Given the description of an element on the screen output the (x, y) to click on. 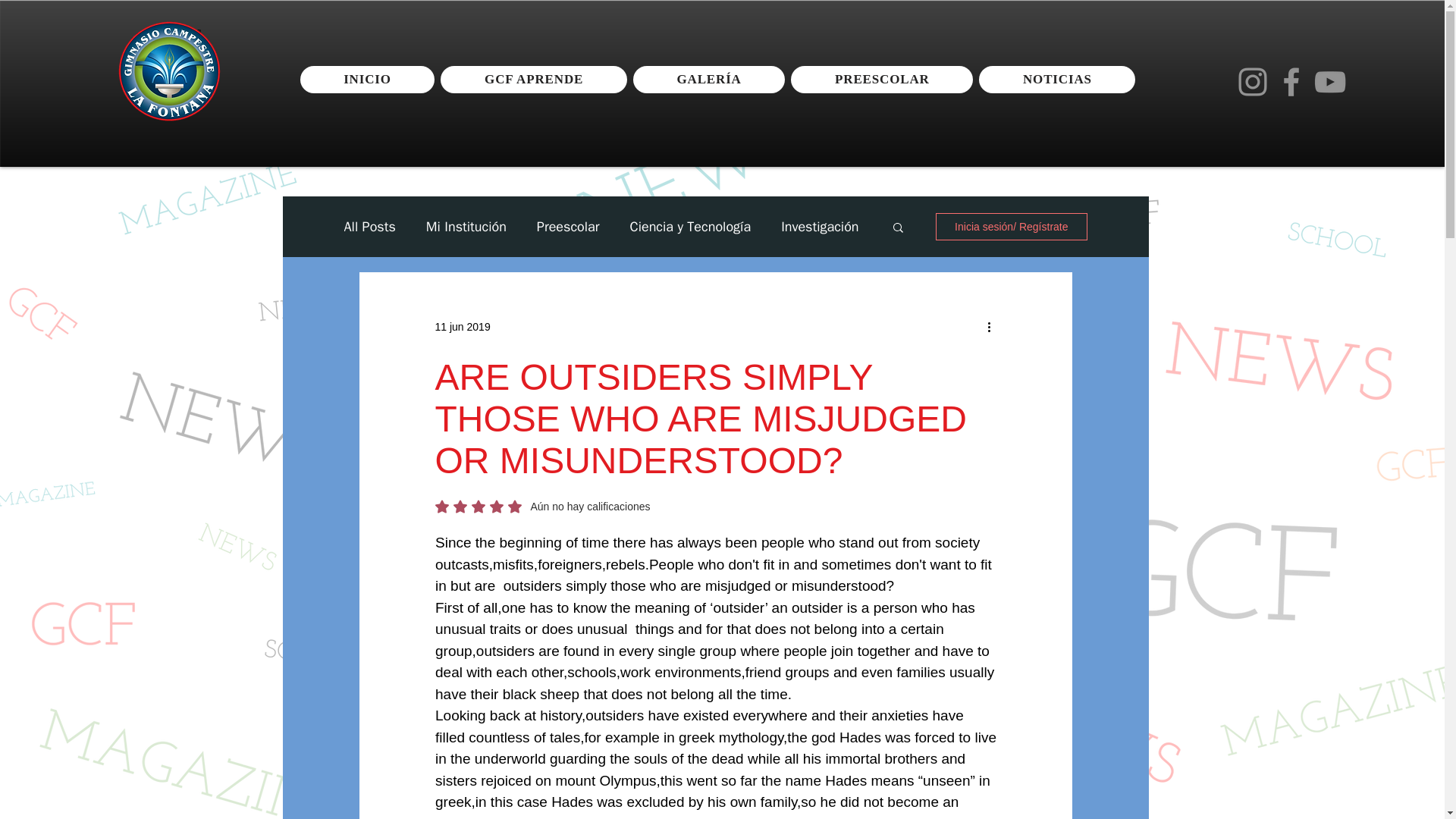
11 jun 2019 (462, 326)
INICIO (367, 79)
PREESCOLAR (881, 79)
All Posts (369, 226)
NOTICIAS (1056, 79)
Preescolar (568, 226)
GCF APRENDE (533, 79)
